Given the description of an element on the screen output the (x, y) to click on. 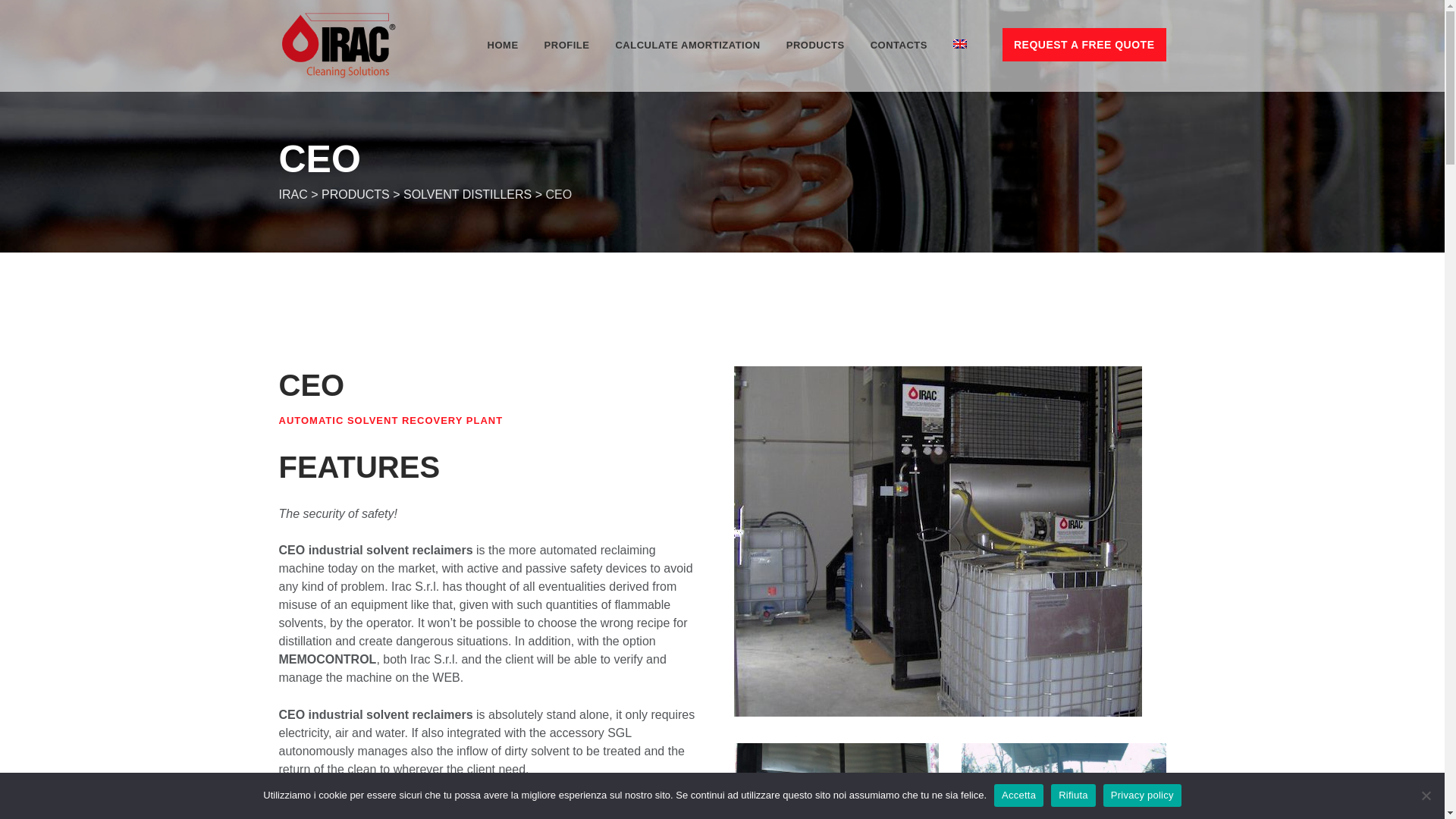
Go to the Solvent Distillers Categoria Prodotto archives. (467, 194)
CALCULATE AMORTIZATION (687, 45)
DSCF0494 (836, 780)
Rifiuta (1425, 795)
PRODUCTS (355, 194)
Rifiuta (1073, 794)
SOLVENT DISTILLERS (467, 194)
Accetta (1018, 794)
IRAC (293, 194)
Irac (338, 45)
Carta Stampa 007 (1063, 780)
Go to Products. (355, 194)
Privacy policy (1141, 794)
REQUEST A FREE QUOTE (1084, 44)
